Given the description of an element on the screen output the (x, y) to click on. 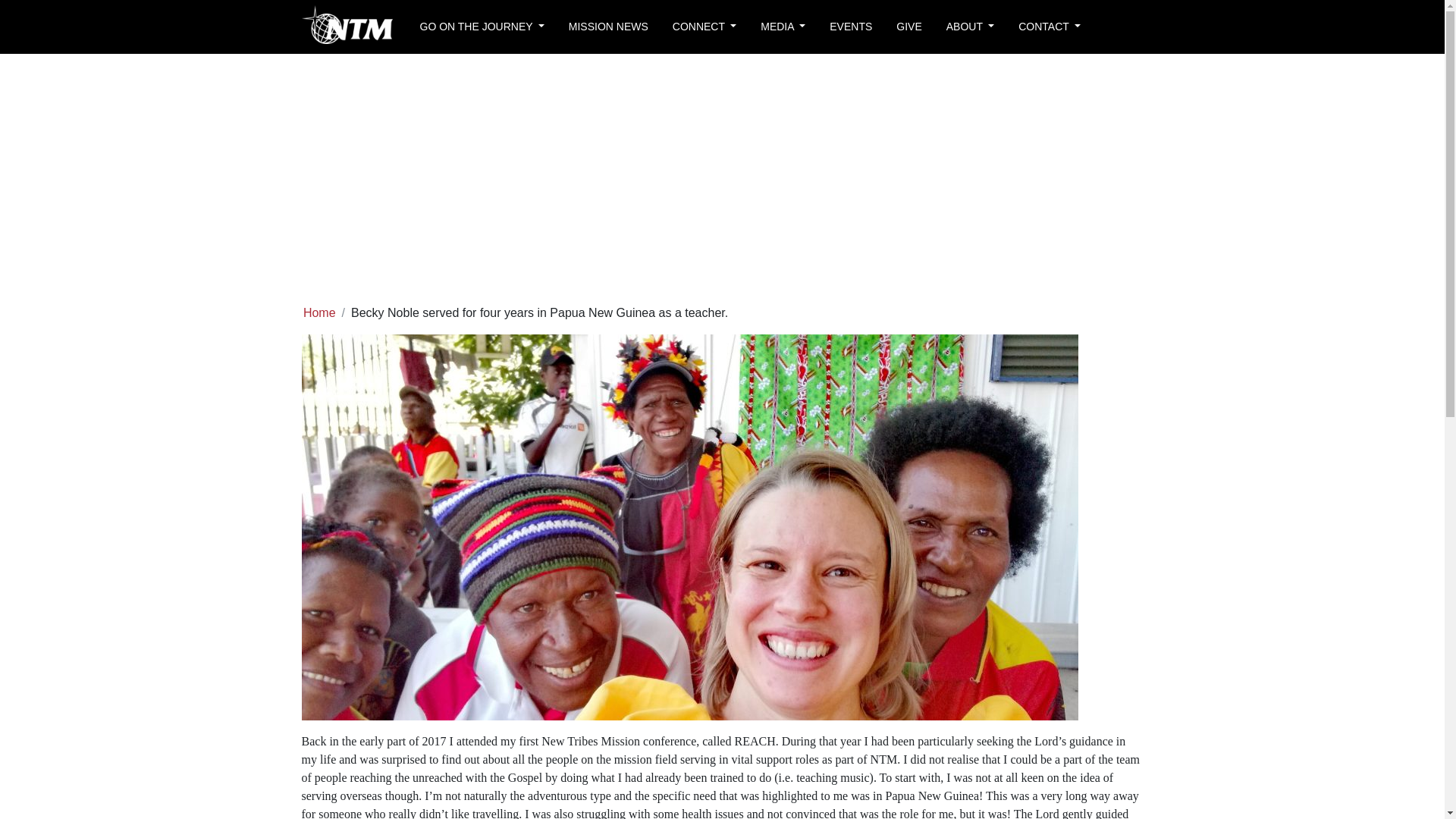
CONNECT (704, 26)
Connect (704, 26)
Home (319, 312)
GO ON THE JOURNEY (481, 26)
MEDIA (782, 26)
Mission News (608, 26)
EVENTS (849, 26)
New Tribes Mission UK (347, 25)
CONTACT (1049, 26)
MISSION NEWS (608, 26)
